Given the description of an element on the screen output the (x, y) to click on. 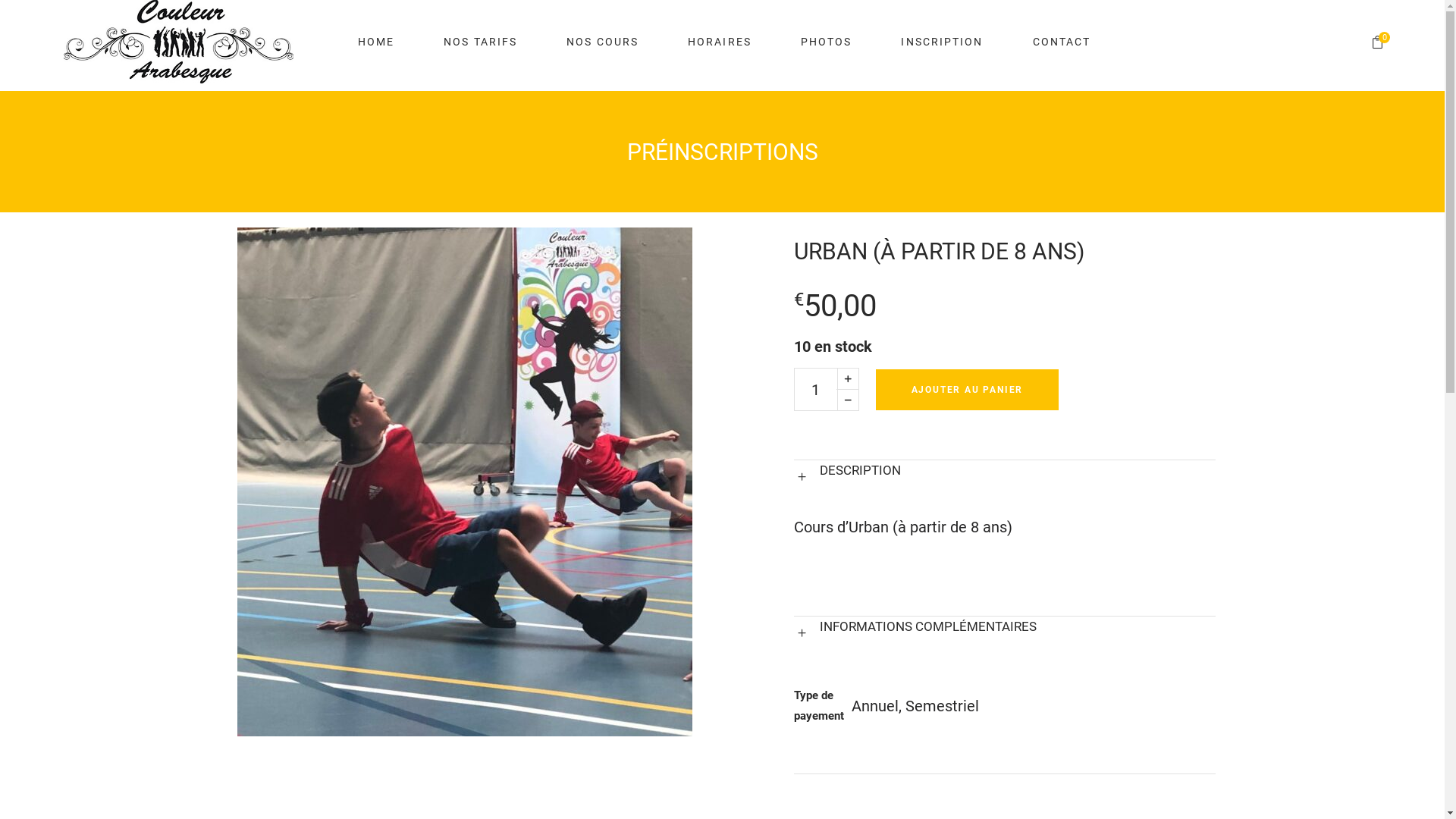
NOS COURS Element type: text (601, 41)
AJOUTER AU PANIER Element type: text (966, 389)
HOME Element type: text (375, 41)
INSCRIPTION Element type: text (941, 41)
CONTACT Element type: text (1061, 41)
HORAIRES Element type: text (718, 41)
NOS TARIFS Element type: text (479, 41)
Qty Element type: hover (815, 389)
PHOTOS Element type: text (825, 41)
295355114_585992863108633_8595601042202663898_n Element type: hover (463, 481)
0 Element type: text (1377, 41)
